Given the description of an element on the screen output the (x, y) to click on. 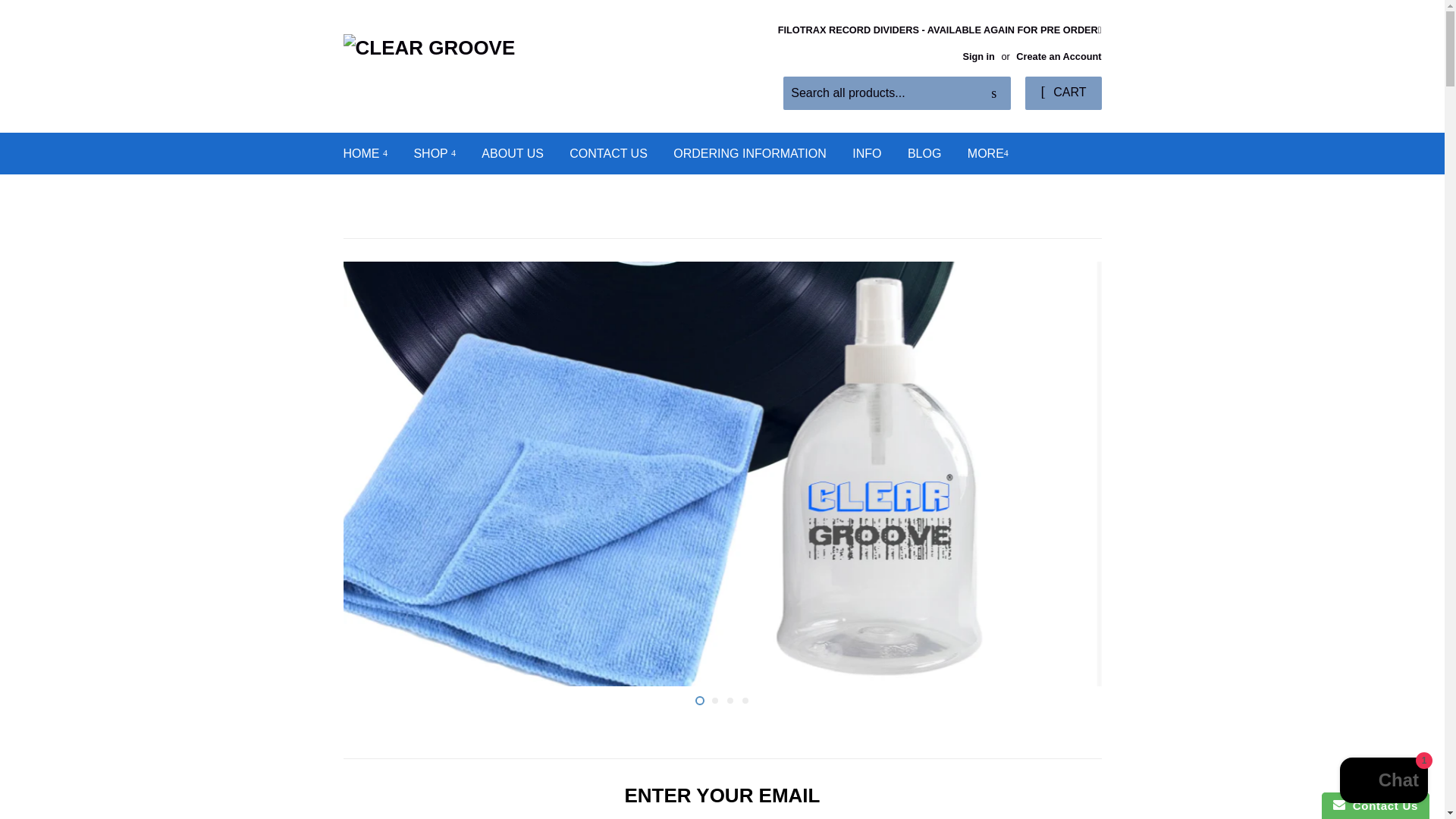
Create an Account (1058, 56)
CART (1062, 92)
Search (993, 93)
Sign in (978, 56)
